Given the description of an element on the screen output the (x, y) to click on. 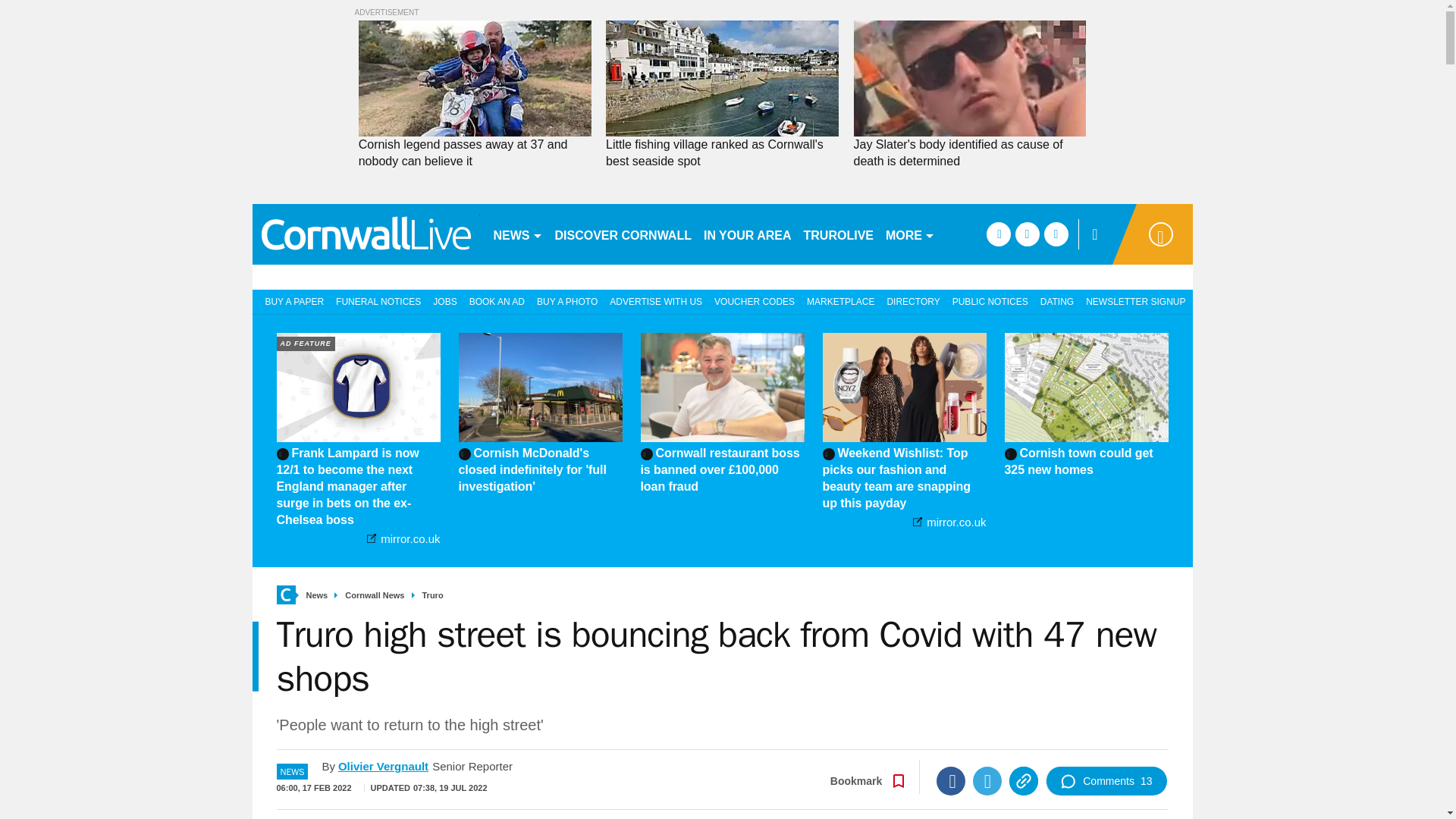
Cornish legend passes away at 37 and nobody can believe it (474, 152)
Facebook (950, 780)
Jay Slater's body identified as cause of death is determined (969, 152)
NEWS (517, 233)
IN YOUR AREA (747, 233)
TRUROLIVE (838, 233)
facebook (997, 233)
instagram (1055, 233)
DISCOVER CORNWALL (622, 233)
cornwalllive (365, 233)
MORE (909, 233)
twitter (1026, 233)
Jay Slater's body identified as cause of death is determined (969, 78)
